Given the description of an element on the screen output the (x, y) to click on. 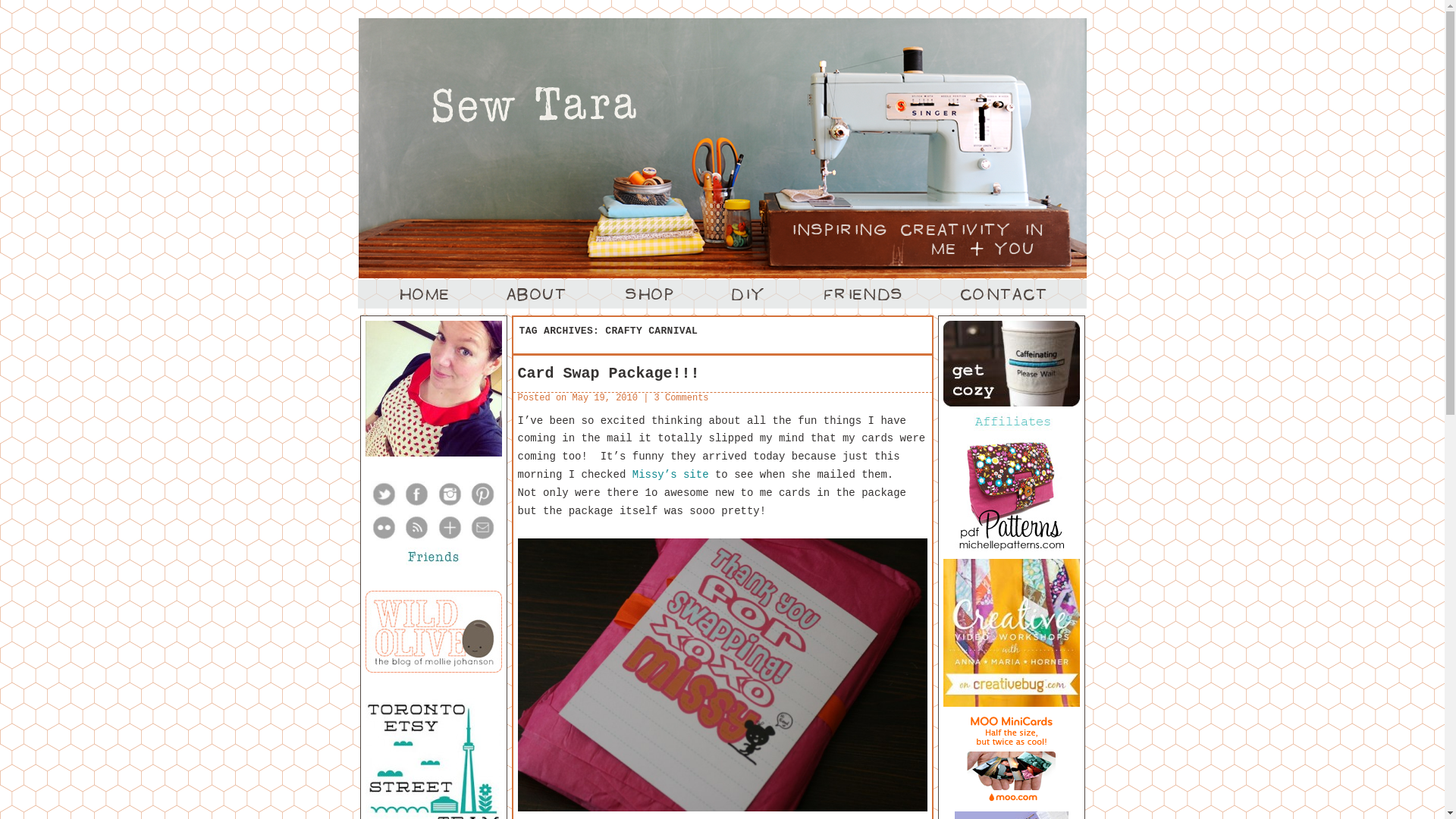
10:20 pm (604, 398)
Card Swap Package!!! (607, 373)
May 19, 2010 (604, 398)
3 Comments (681, 398)
card swap package from crafty carnival (721, 674)
Permalink to Card swap package!!! (607, 373)
Subscribe to my feed (416, 537)
